Given the description of an element on the screen output the (x, y) to click on. 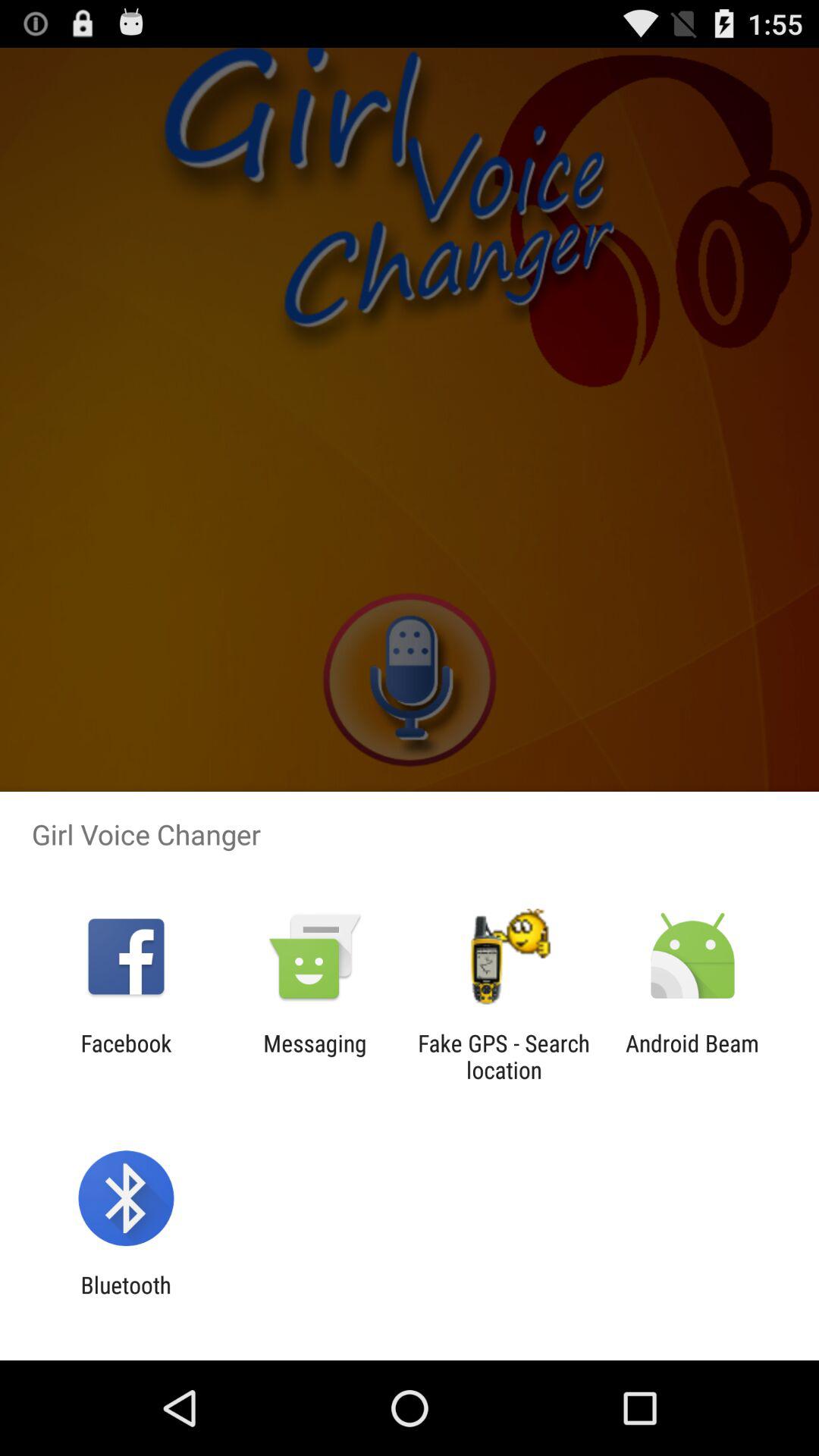
launch item next to the fake gps search (314, 1056)
